Given the description of an element on the screen output the (x, y) to click on. 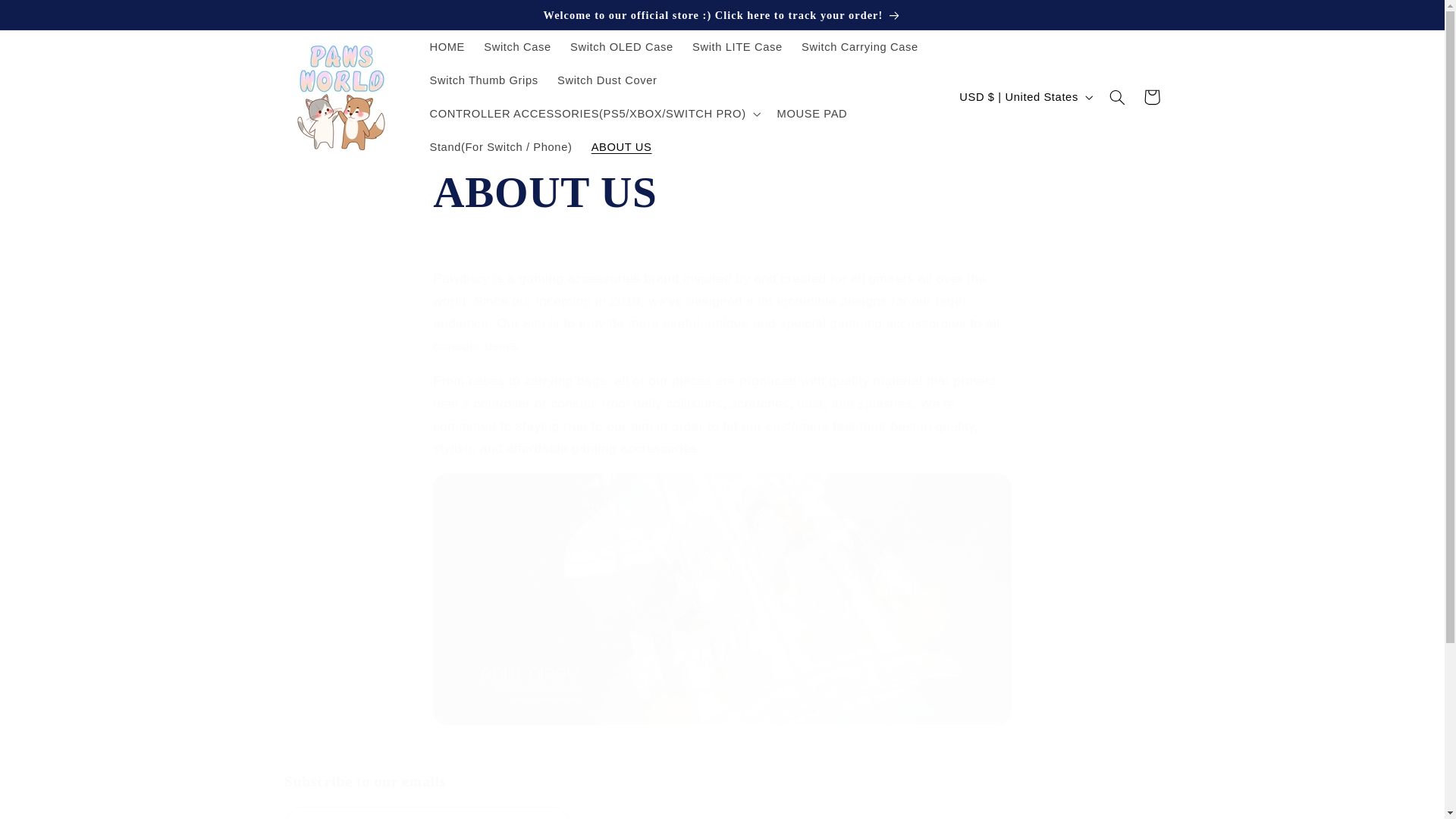
Switch Case (517, 46)
HOME (447, 46)
ABOUT US (721, 192)
ABOUT US (620, 147)
Switch Thumb Grips (721, 795)
Swith LITE Case (484, 80)
Switch OLED Case (737, 46)
Skip to content (621, 46)
